Given the description of an element on the screen output the (x, y) to click on. 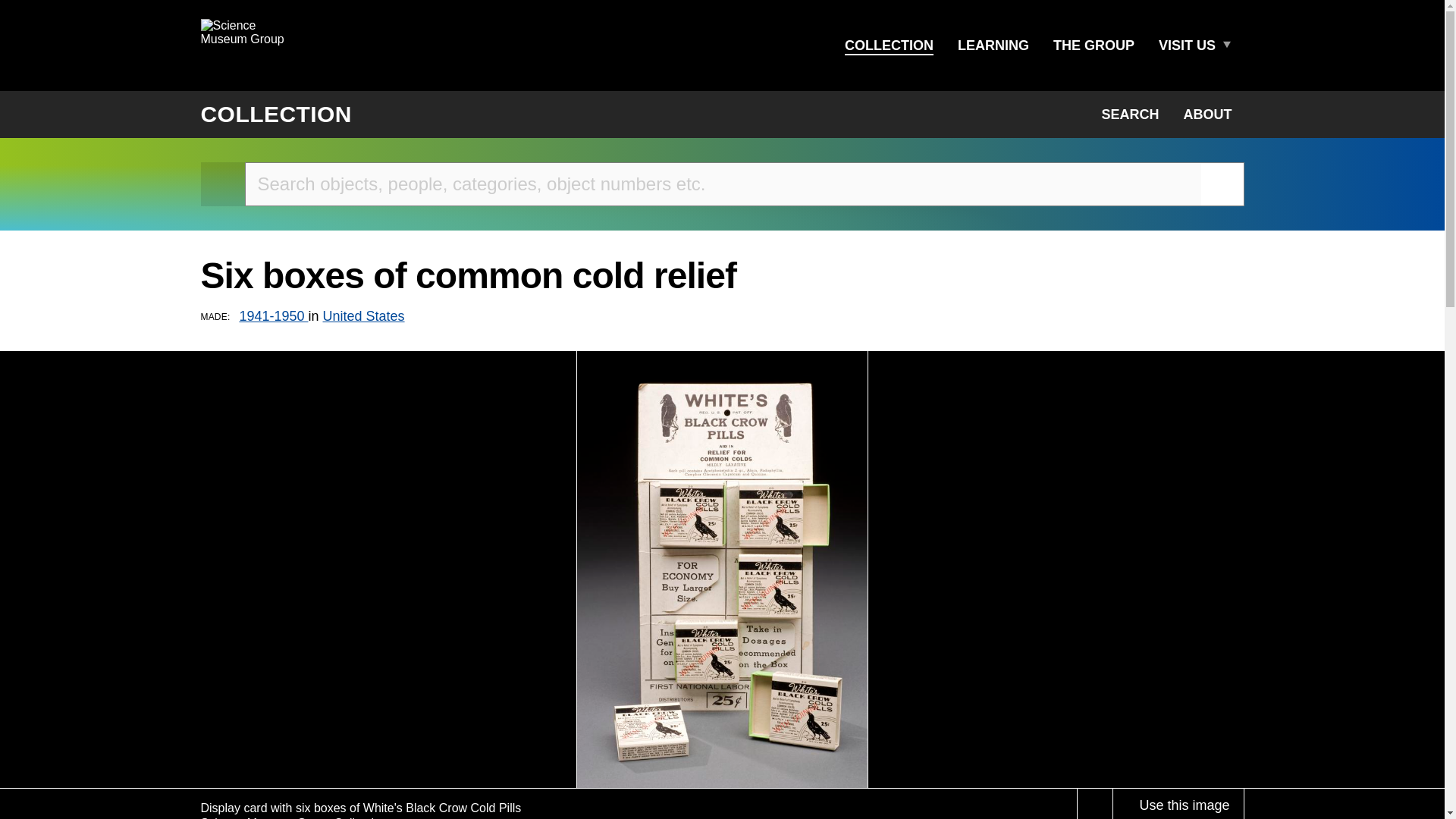
ABOUT (1206, 114)
SEARCH (1129, 114)
VISIT US (1187, 45)
United States (363, 315)
1941-1950 (272, 315)
LEARNING (992, 45)
COLLECTION (888, 45)
Toggle full page (1095, 803)
THE GROUP (1094, 45)
Back to the home page (222, 184)
